Given the description of an element on the screen output the (x, y) to click on. 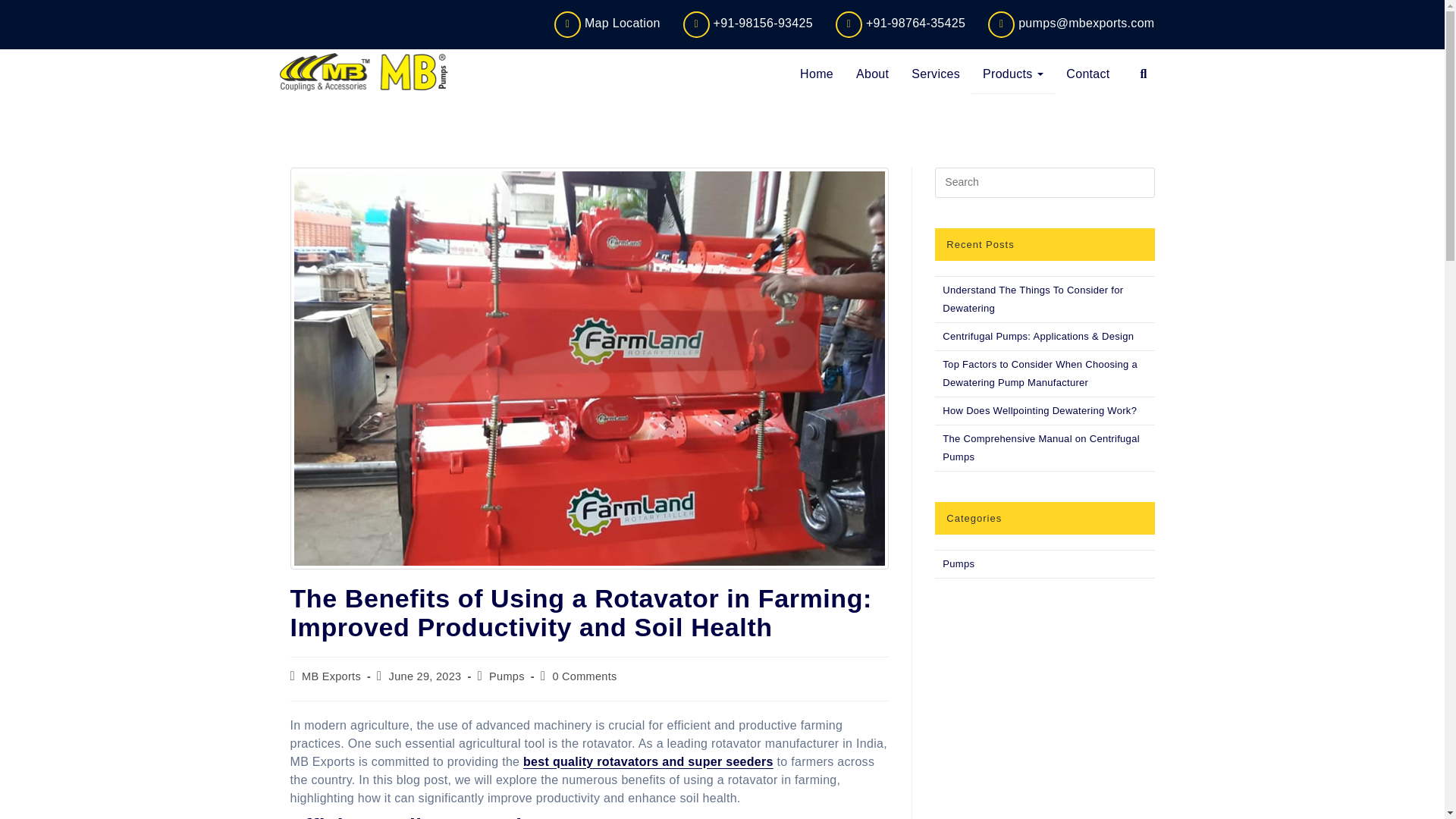
Pumps (506, 676)
Products (1012, 73)
Contact (1087, 73)
Services (935, 73)
best quality rotavators and super seeders (647, 761)
How Does Wellpointing Dewatering Work? (1039, 410)
Home (816, 73)
0 Comments (583, 676)
Pumps (958, 563)
Understand The Things To Consider for Dewatering (1032, 298)
About (871, 73)
Posts by MB Exports (331, 676)
MB Exports (331, 676)
Map Location (652, 24)
